Given the description of an element on the screen output the (x, y) to click on. 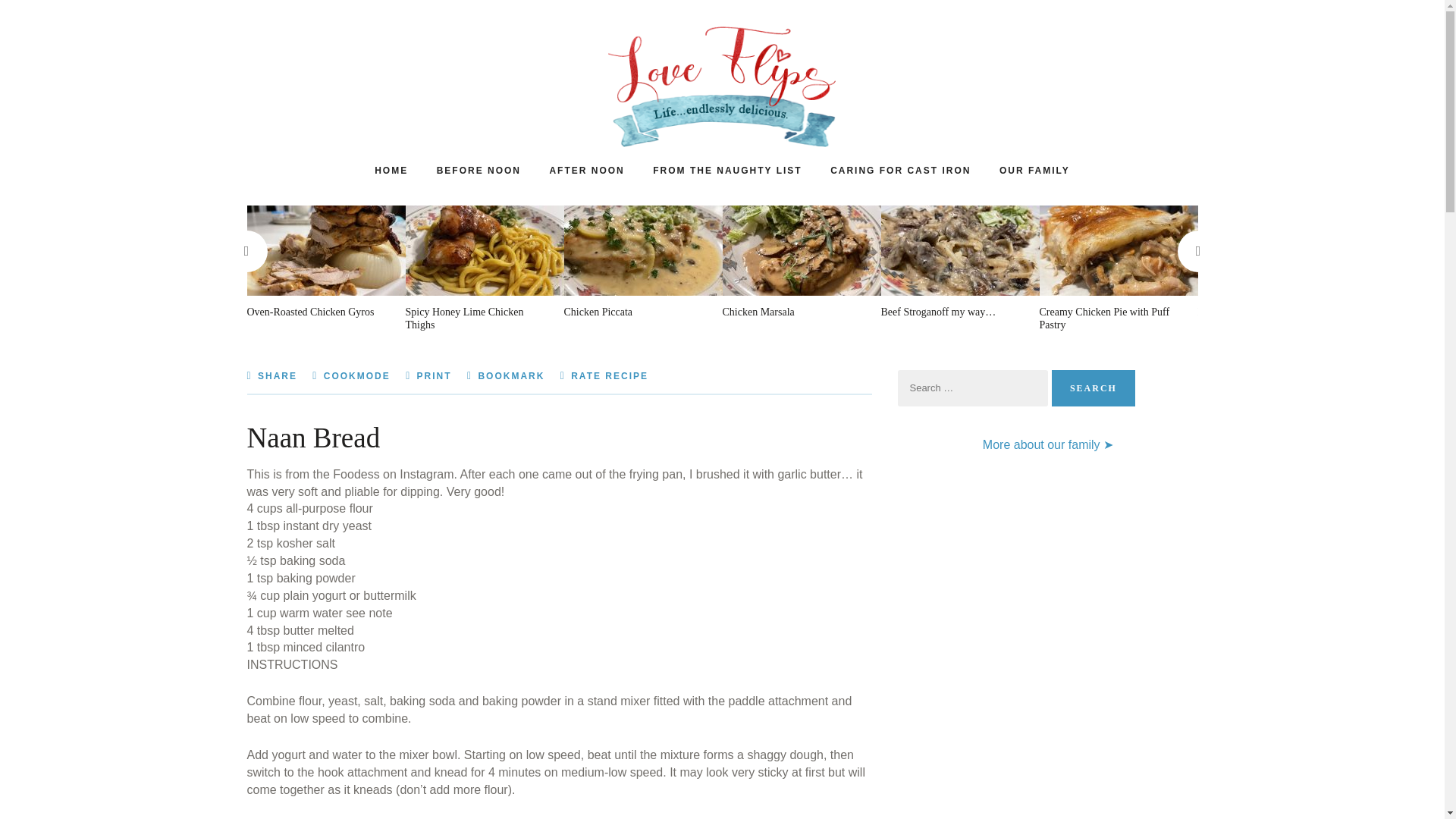
BEFORE NOON (478, 170)
Search (1093, 388)
Oven-Roasted Chicken Gyros (318, 312)
OUR FAMILY (1034, 170)
Chicken Marsala (793, 312)
Creamy Chicken Pie with Puff Pastry (1110, 318)
Search (1093, 388)
CARING FOR CAST IRON (900, 170)
Spicy Honey Lime Chicken Thighs (476, 318)
AFTER NOON (586, 170)
